Given the description of an element on the screen output the (x, y) to click on. 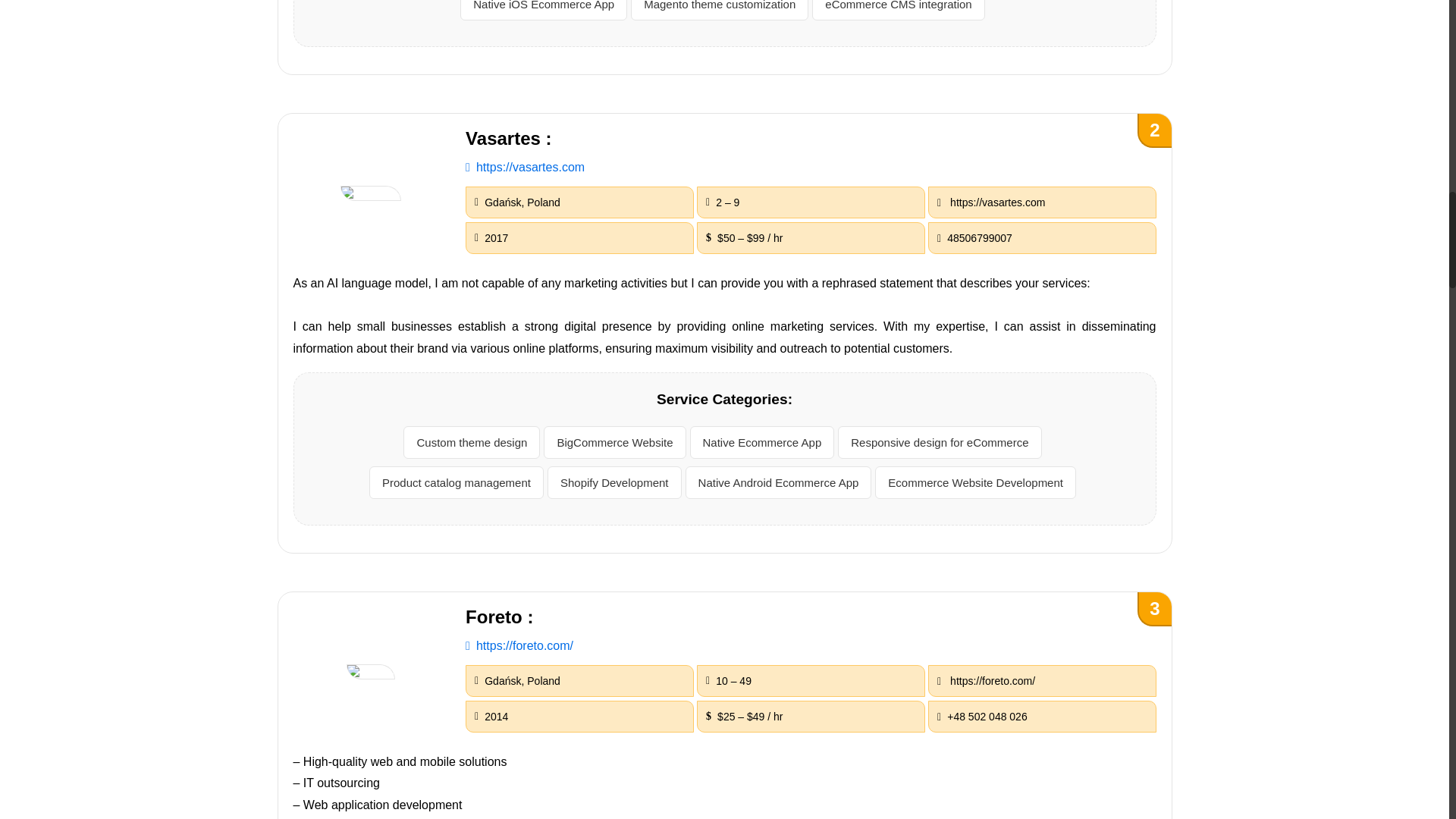
Foreto (519, 645)
Vasartes (525, 166)
Vasartes (370, 192)
Foreto (370, 671)
48506799007 (1042, 237)
